Given the description of an element on the screen output the (x, y) to click on. 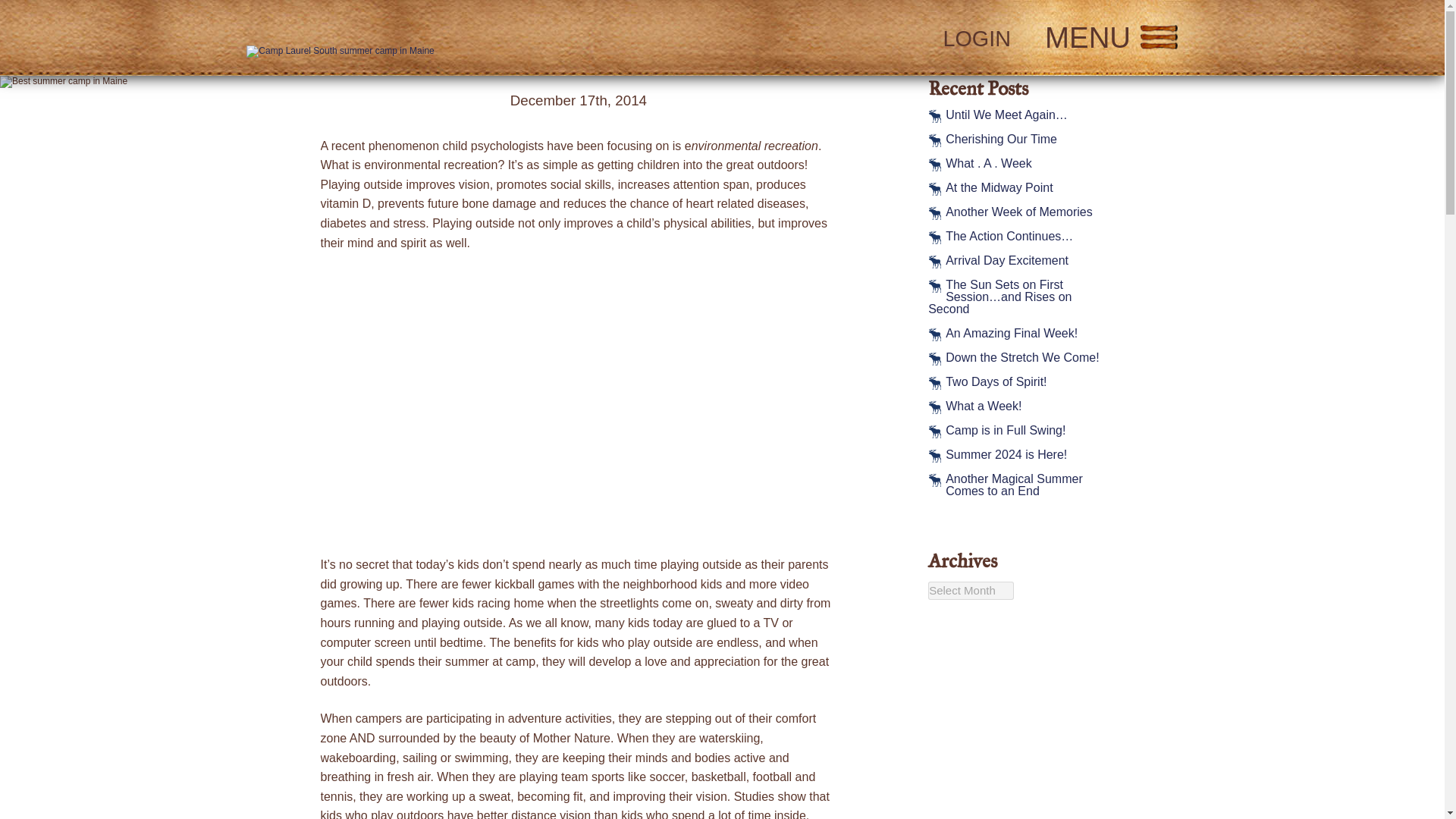
Camp Laurel South summer camp in Maine (339, 51)
MENU (1111, 37)
Log in to summer camp account (577, 81)
Back to homepage (976, 38)
LOGIN (461, 38)
